Given the description of an element on the screen output the (x, y) to click on. 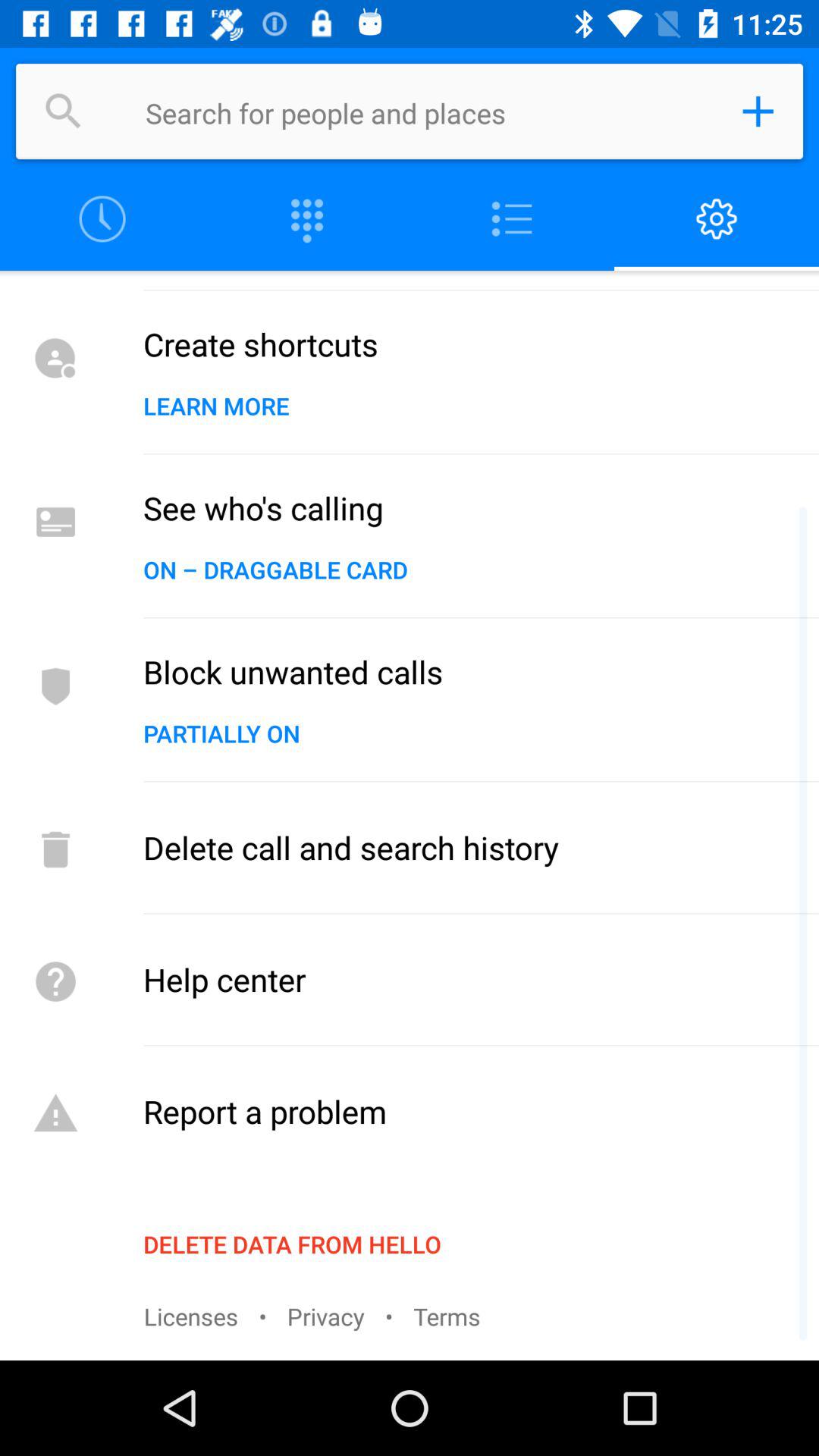
search (427, 111)
